Given the description of an element on the screen output the (x, y) to click on. 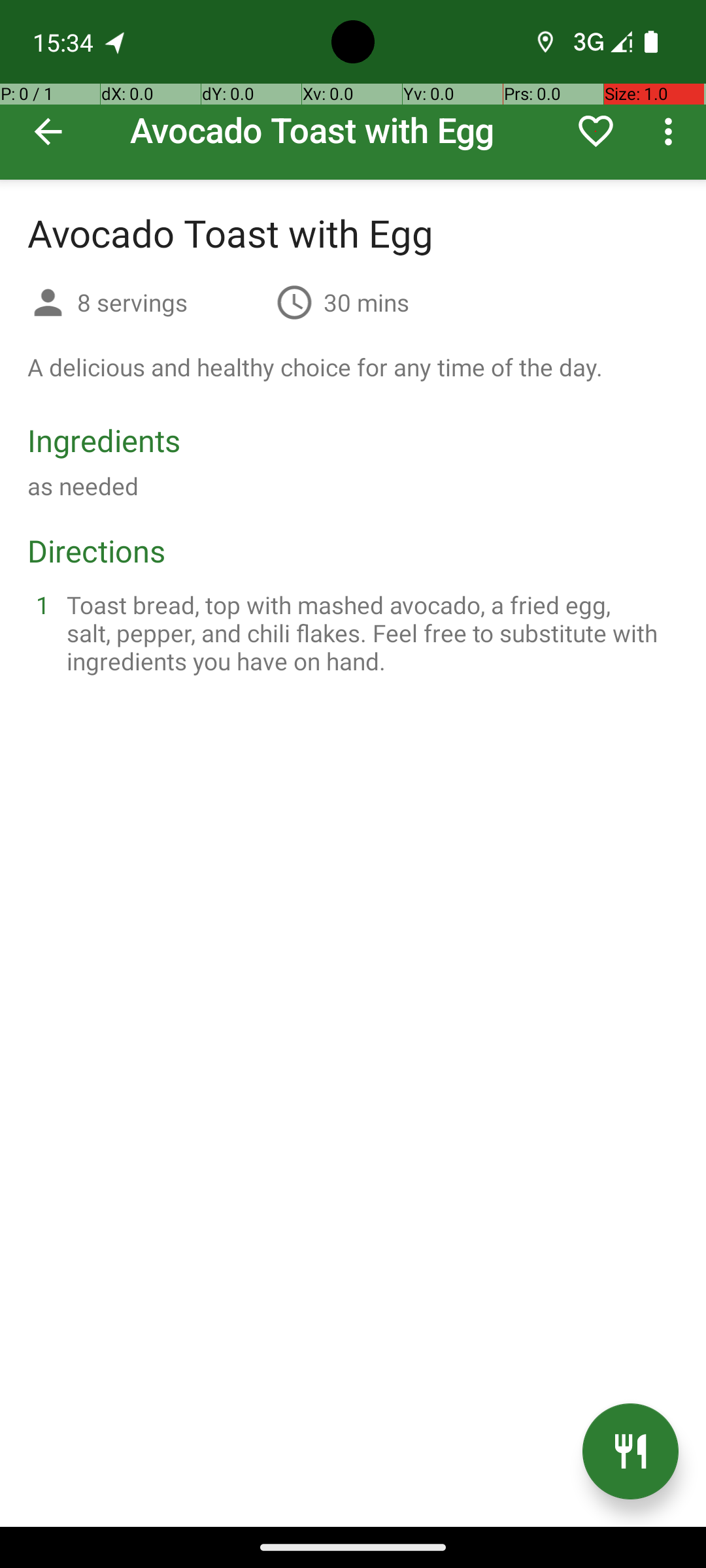
Toast bread, top with mashed avocado, a fried egg, salt, pepper, and chili flakes. Feel free to substitute with ingredients you have on hand. Element type: android.widget.TextView (368, 632)
